Given the description of an element on the screen output the (x, y) to click on. 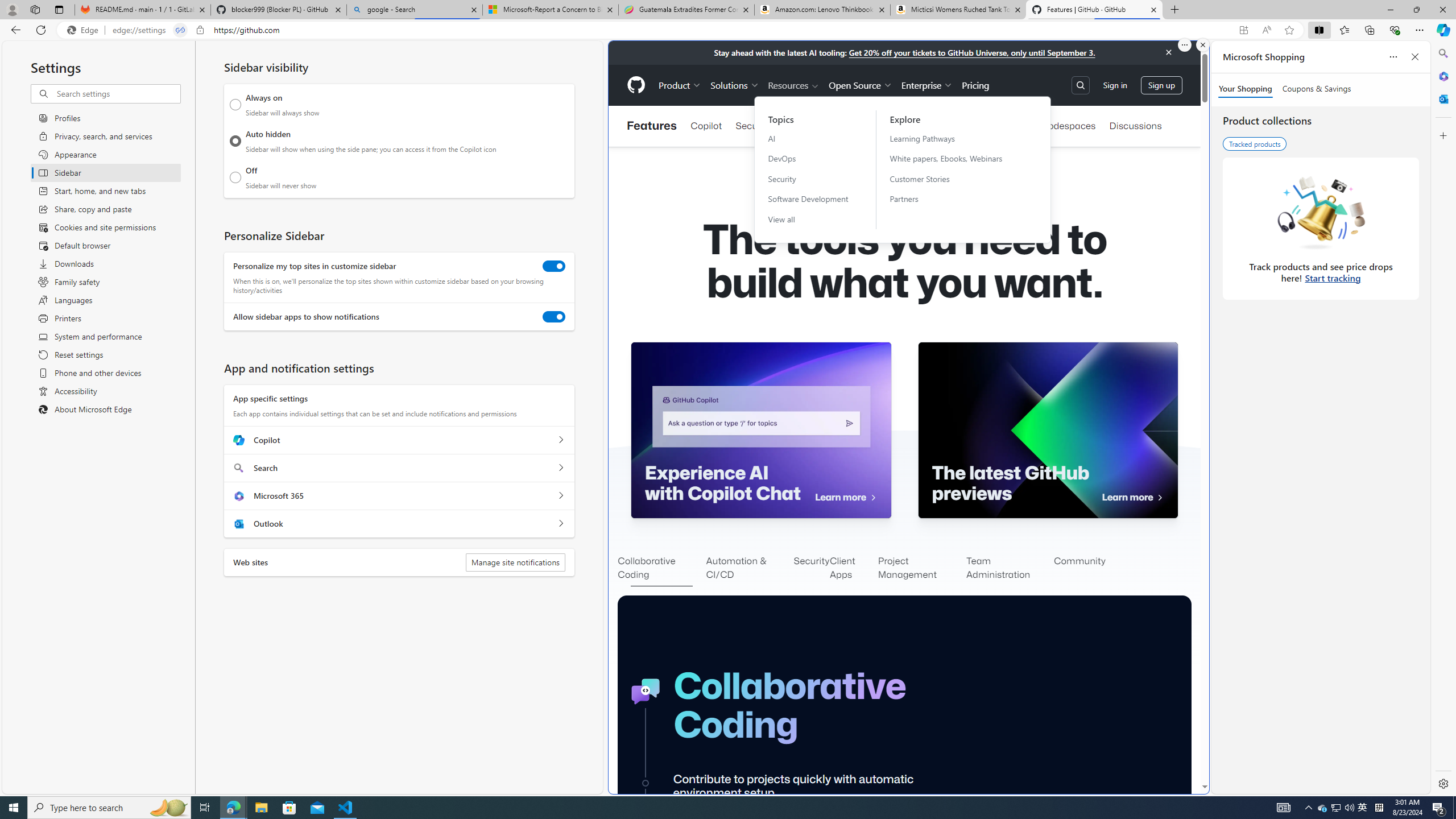
View all (807, 219)
Issues (910, 125)
Customer Stories (952, 178)
GitHub Collaboration Icon (646, 691)
White papers, Ebooks, Webinars (952, 158)
DevOps (807, 158)
Partners (952, 199)
Enterprise (927, 84)
